Given the description of an element on the screen output the (x, y) to click on. 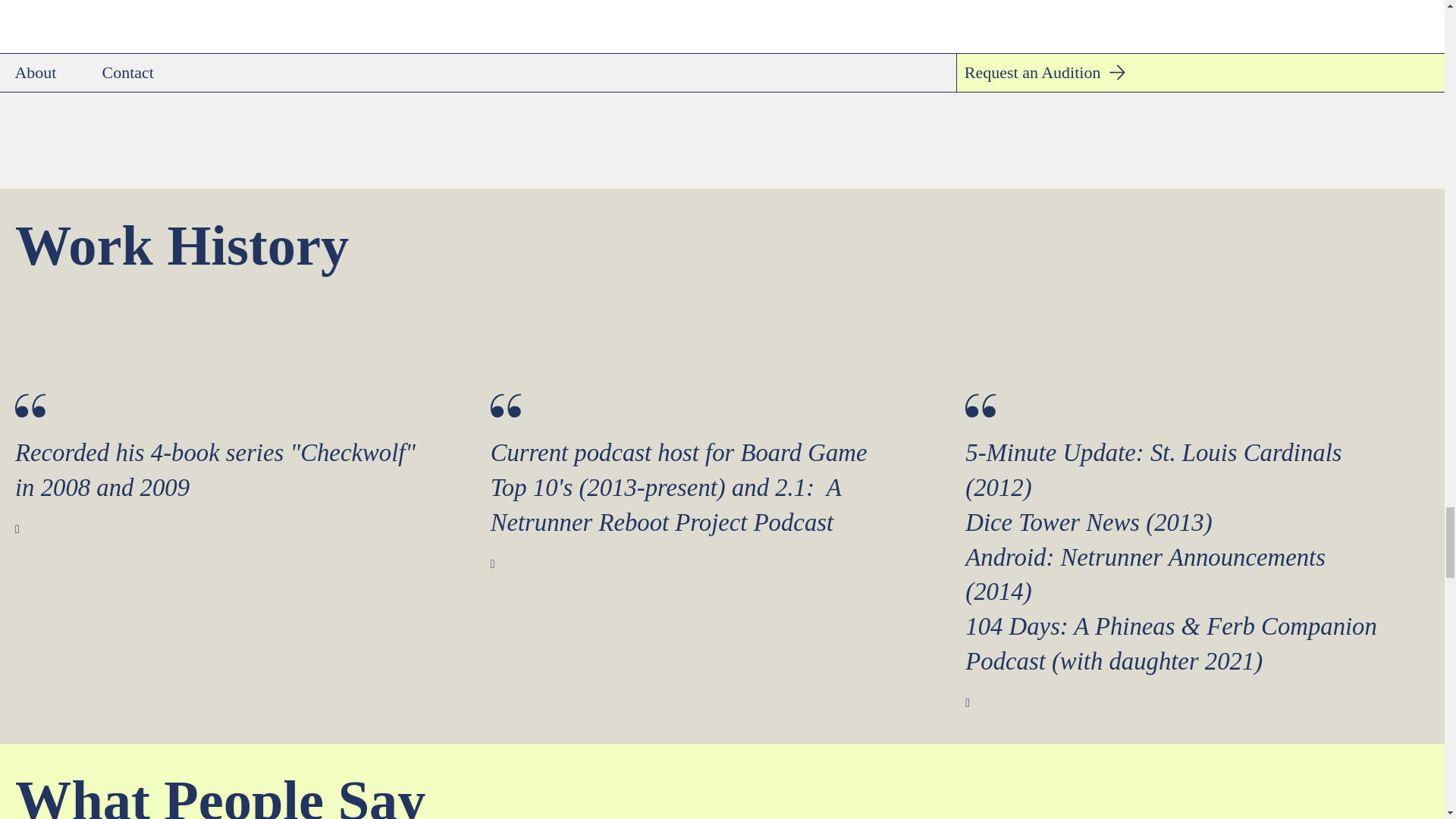
Full Bio (837, 39)
